Given the description of an element on the screen output the (x, y) to click on. 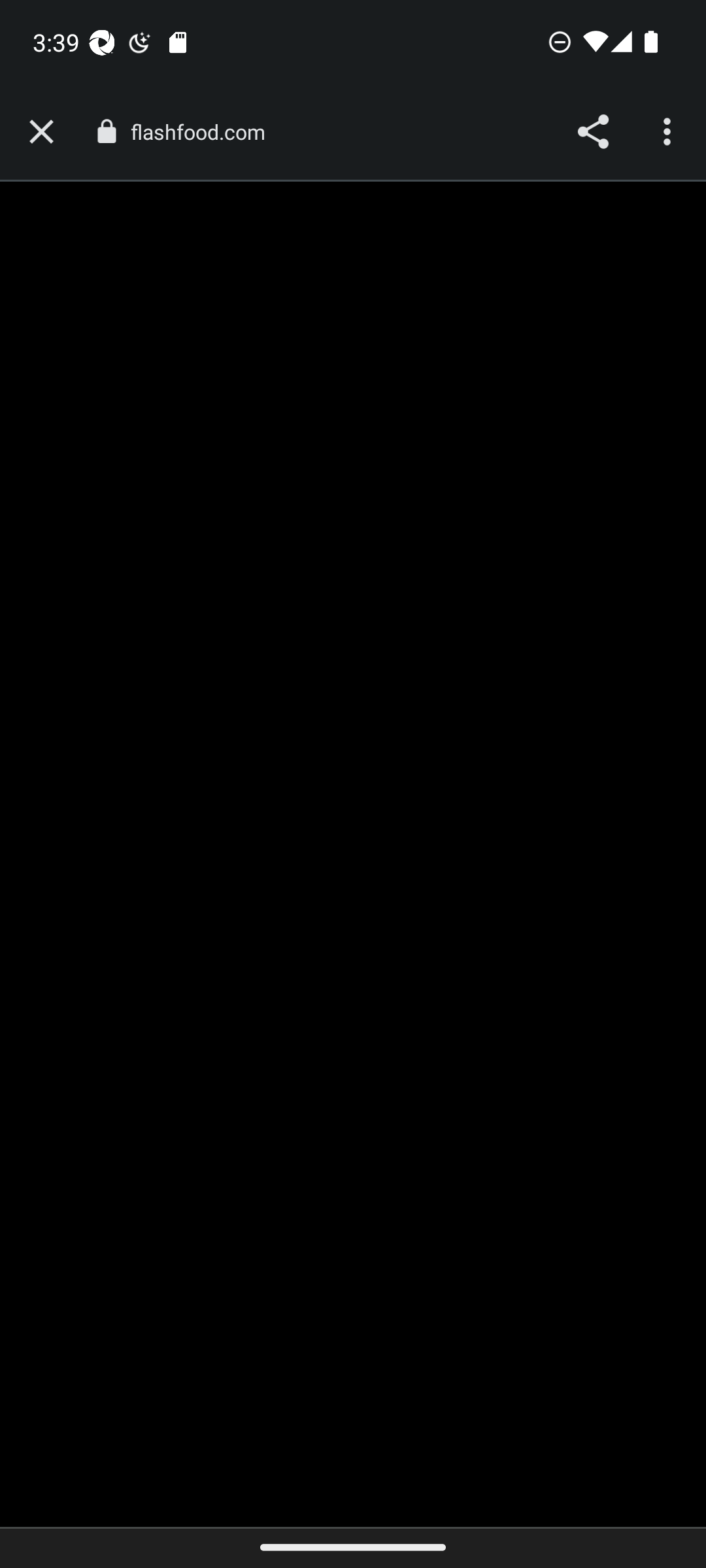
Close tab (41, 131)
Share (592, 131)
More options (669, 131)
Connection is secure (106, 131)
flashfood.com (204, 131)
